Given the description of an element on the screen output the (x, y) to click on. 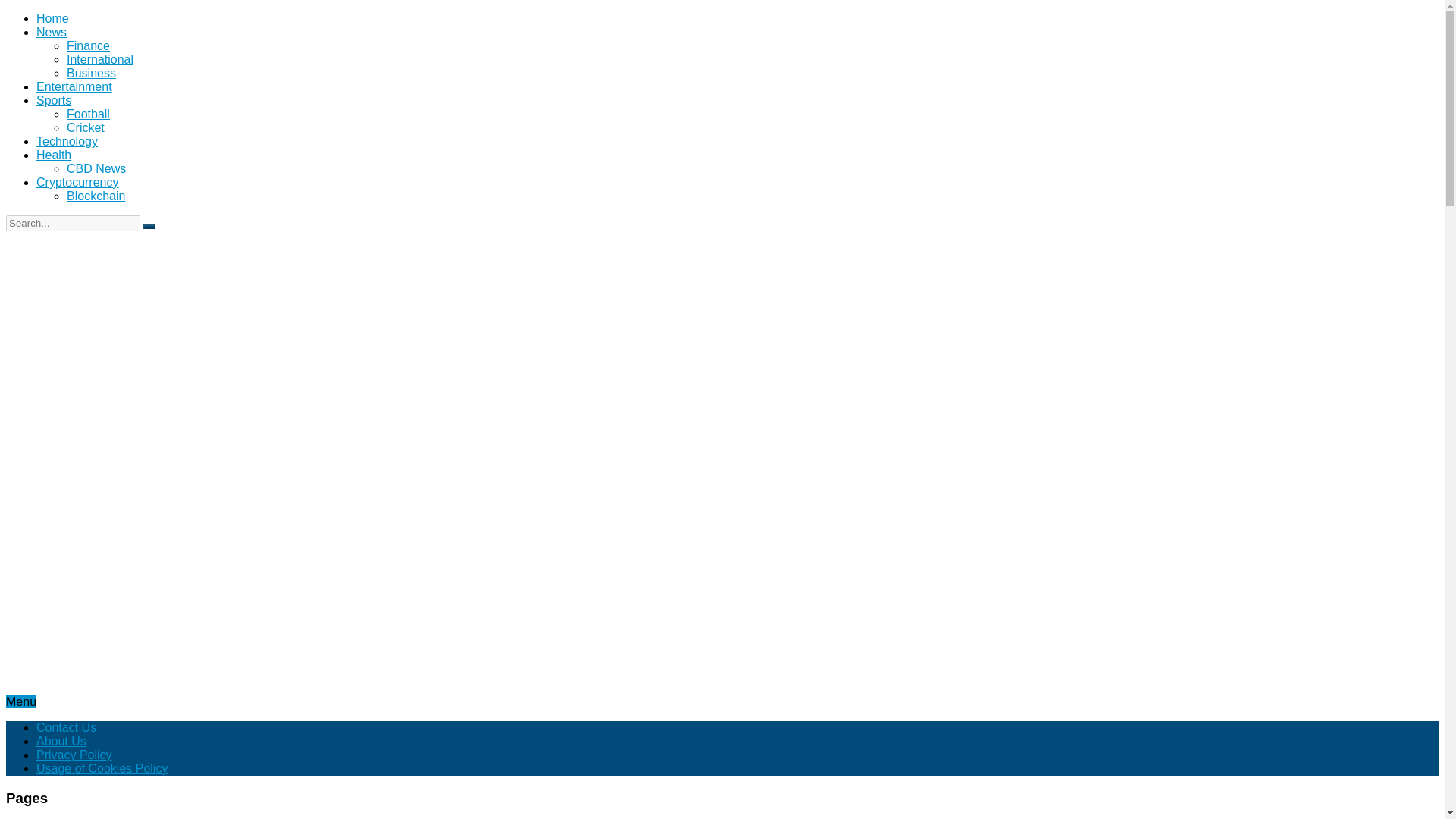
About Us (60, 740)
Business (91, 72)
Technology (66, 141)
CBD News (95, 168)
Blockchain (95, 195)
Home (52, 18)
Contact Us (66, 727)
Entertainment (74, 86)
Health (53, 154)
Sports (53, 100)
